Given the description of an element on the screen output the (x, y) to click on. 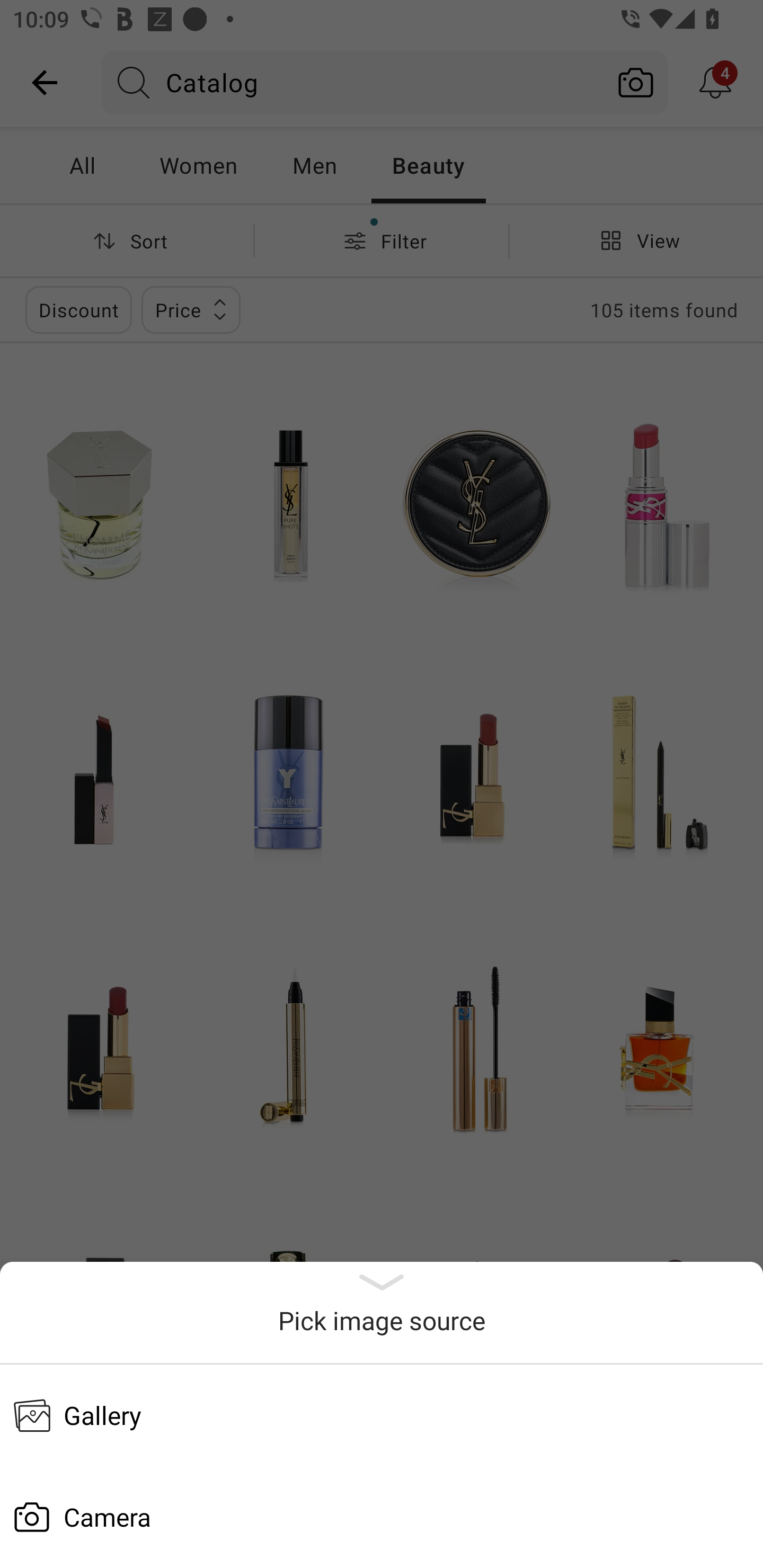
Gallery (381, 1415)
Camera (381, 1517)
